Given the description of an element on the screen output the (x, y) to click on. 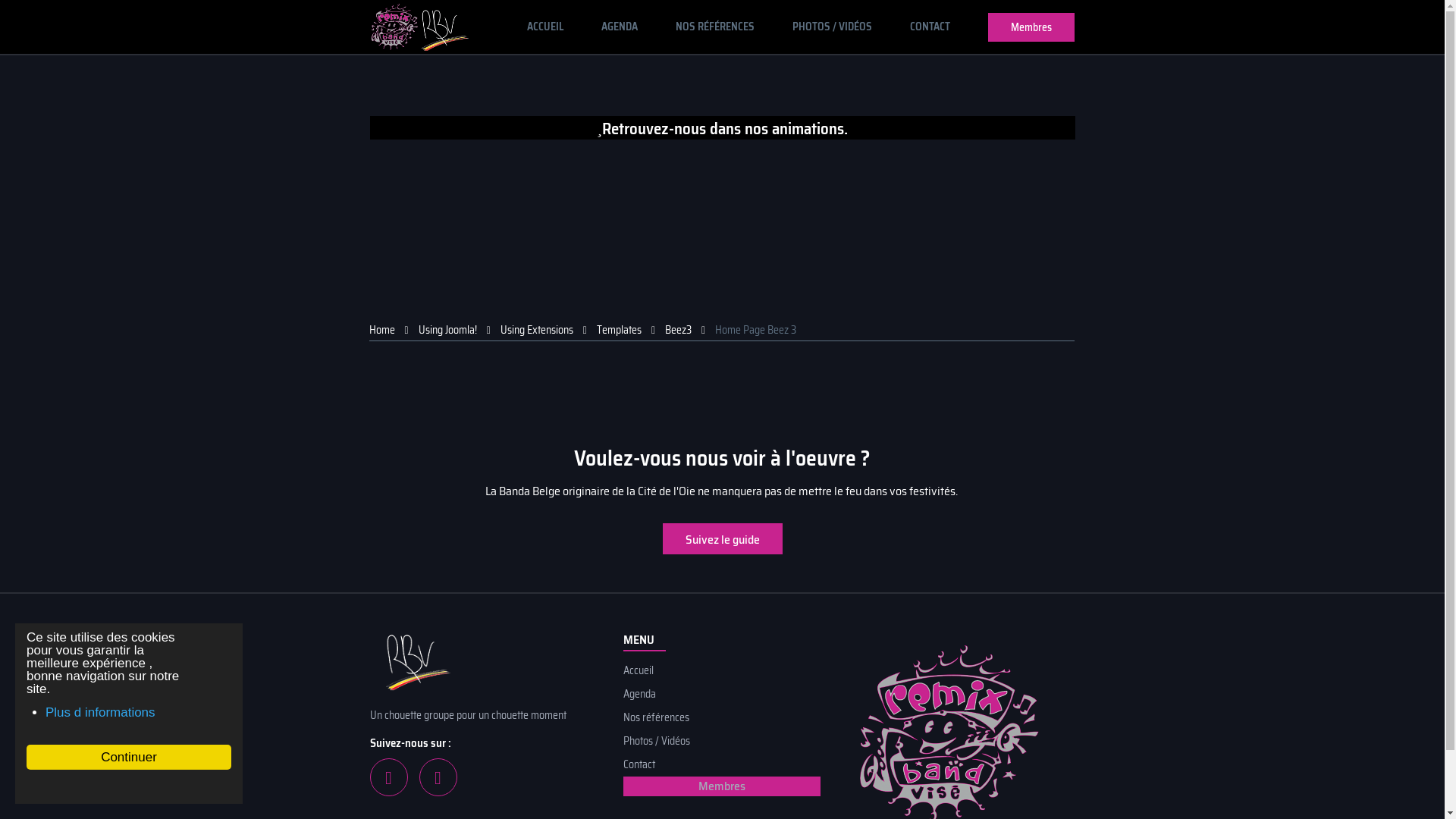
Using Extensions Element type: text (536, 329)
Templates Element type: text (618, 329)
remixband.be Element type: hover (419, 26)
CONTACT Element type: text (930, 26)
Membres Element type: text (721, 786)
ACCUEIL Element type: text (545, 26)
Suivez le guide Element type: text (722, 538)
Agenda Element type: text (721, 694)
Accueil Element type: text (721, 670)
Home Element type: text (381, 329)
Using Joomla! Element type: text (447, 329)
Membres Element type: text (1031, 26)
Beez3 Element type: text (678, 329)
Contact Element type: text (721, 764)
AGENDA Element type: text (619, 26)
remixband.be Element type: hover (479, 663)
Continuer Element type: text (128, 756)
Plus d informations Element type: text (100, 712)
